Given the description of an element on the screen output the (x, y) to click on. 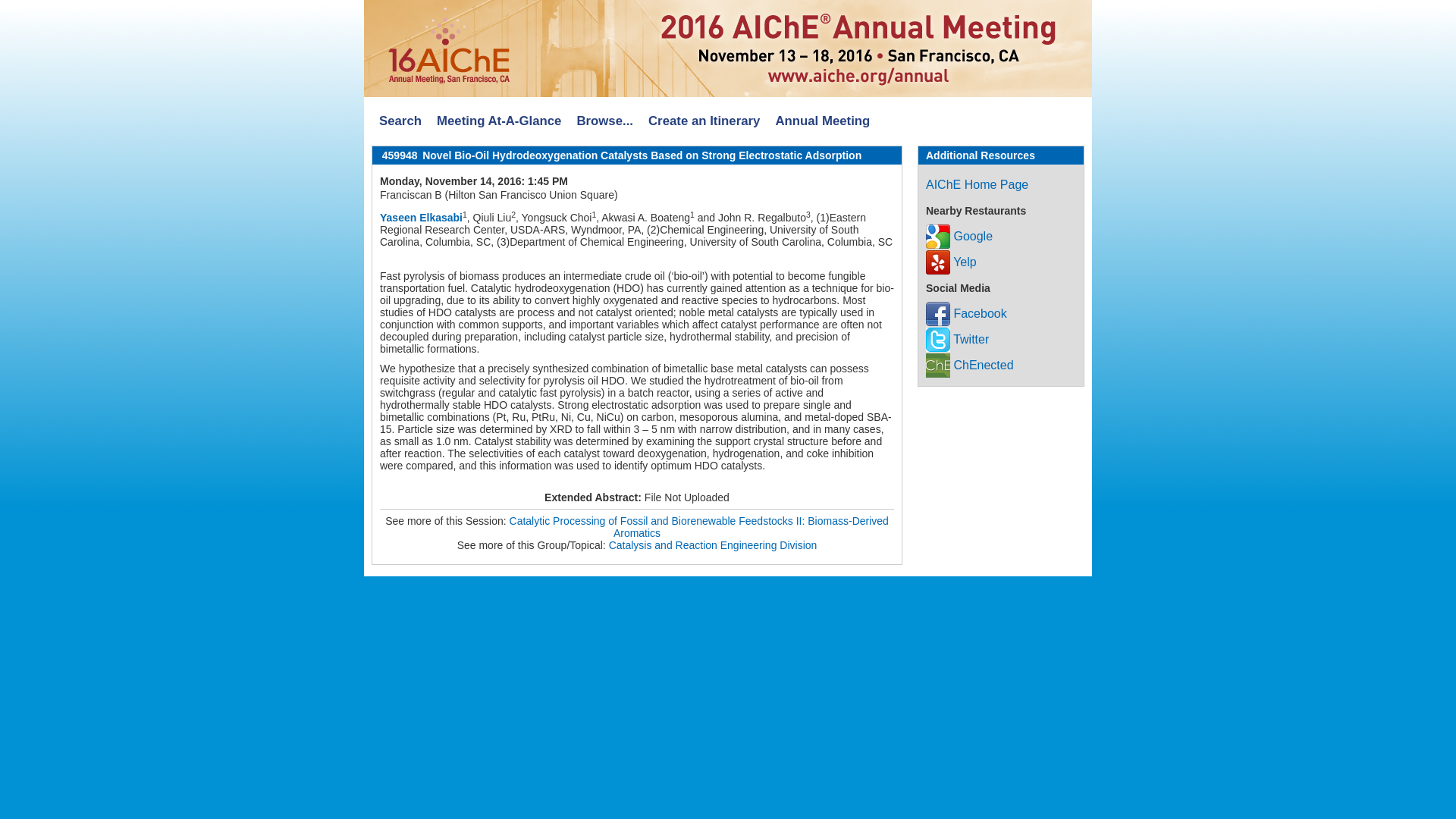
Facebook (966, 313)
Yaseen Elkasabi (421, 217)
Google (959, 236)
Meeting At-A-Glance (499, 121)
Create an Itinerary (703, 121)
Browse... (604, 121)
Annual Meeting (822, 121)
ChEnected (969, 364)
AIChE Home Page (976, 184)
Catalysis and Reaction Engineering Division (712, 544)
Twitter (957, 338)
Yelp (951, 261)
Search (400, 121)
